Given the description of an element on the screen output the (x, y) to click on. 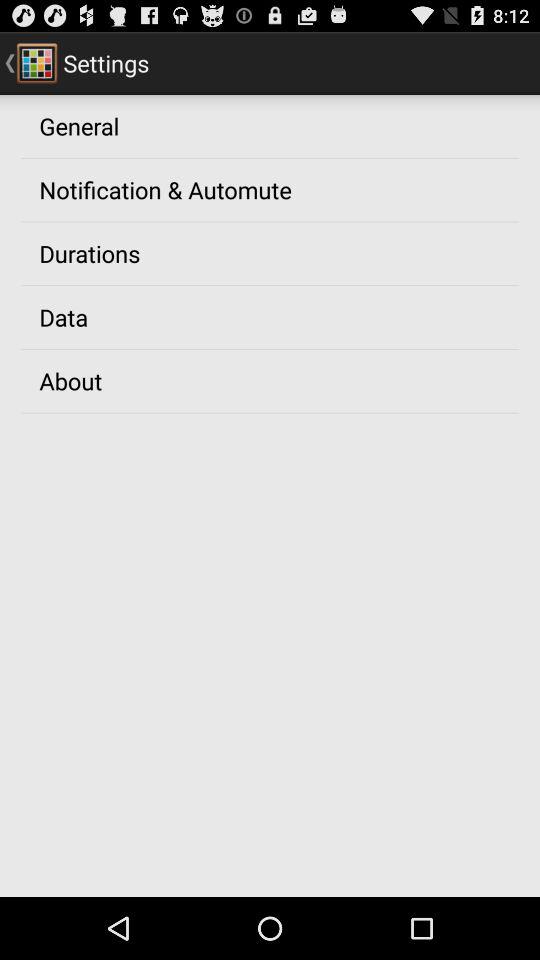
choose item above notification & automute (79, 125)
